Given the description of an element on the screen output the (x, y) to click on. 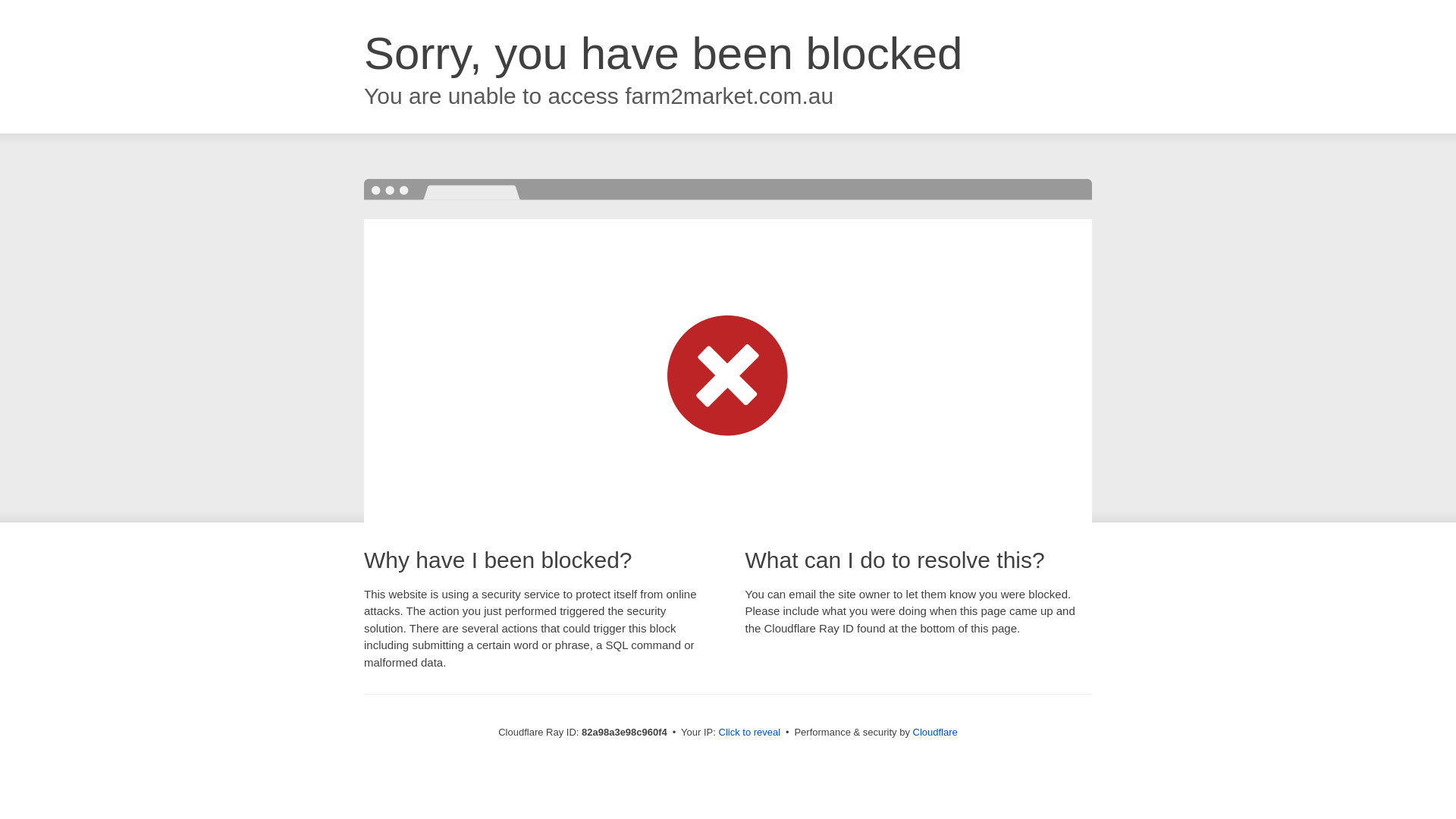
Click to reveal Element type: text (749, 732)
Cloudflare Element type: text (935, 731)
